Given the description of an element on the screen output the (x, y) to click on. 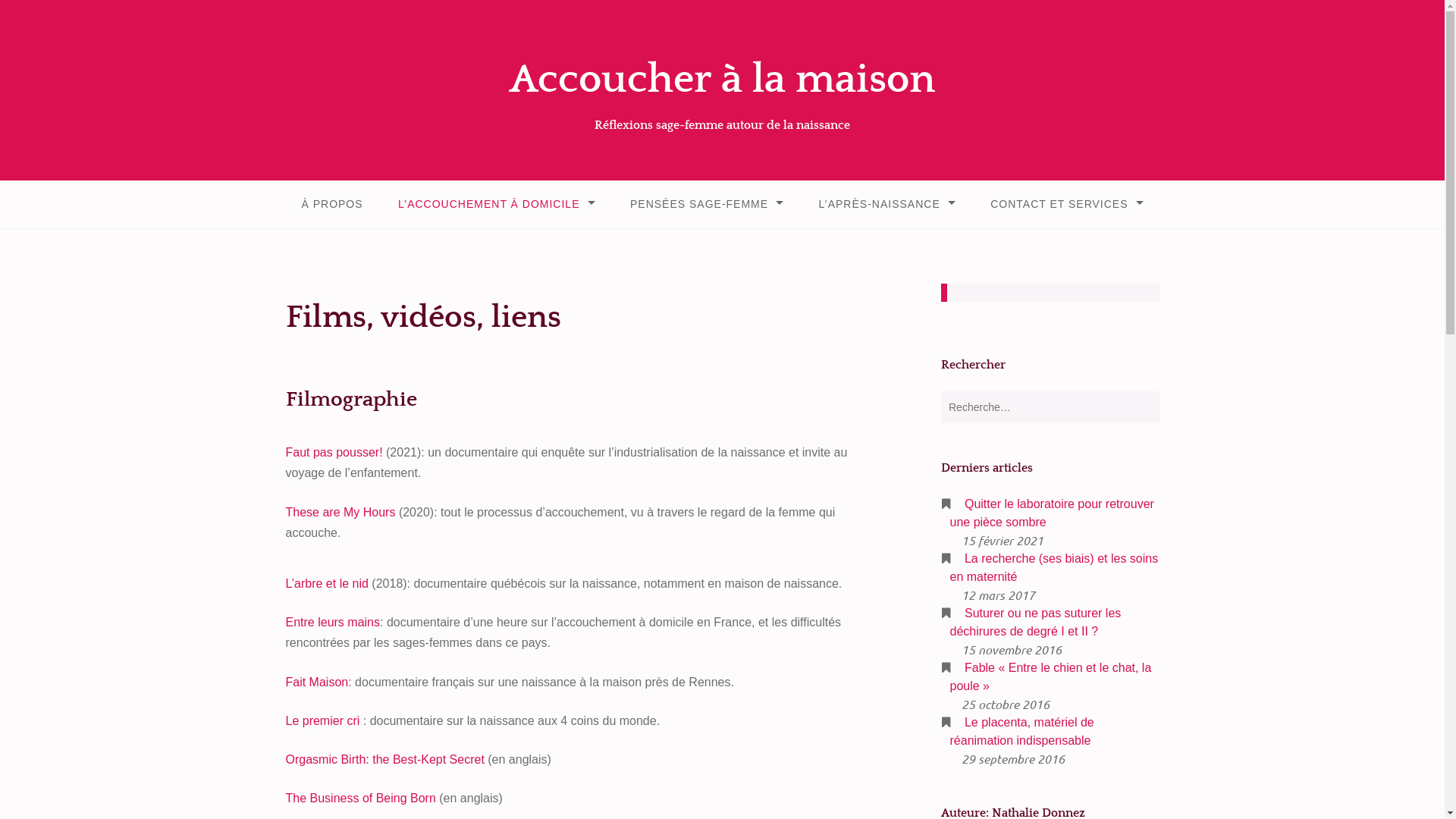
Le premier cri Element type: text (322, 720)
CONTACT ET SERVICES Element type: text (1066, 204)
Rechercher Element type: text (43, 14)
These are My Hours Element type: text (340, 511)
Orgasmic Birth: the Best-Kept Secret Element type: text (384, 759)
Fait Maison Element type: text (316, 681)
Faut pas pousser! Element type: text (333, 451)
Entre leurs mains Element type: text (332, 621)
The Business of Being Born Element type: text (360, 797)
